Given the description of an element on the screen output the (x, y) to click on. 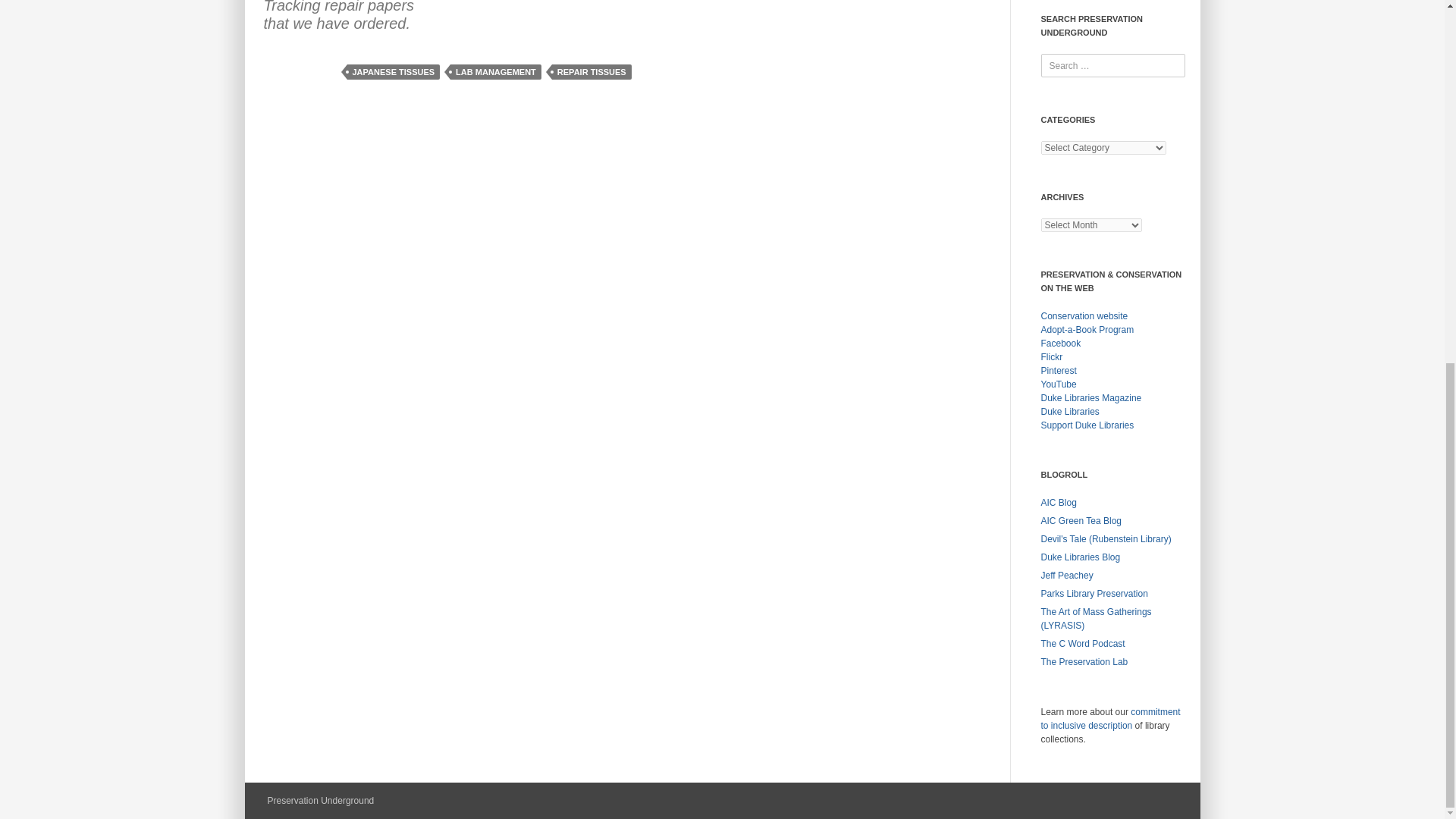
Iowa State University Preservation Department (1094, 593)
Pinterest (1058, 370)
Jeff Peachey is a master bookbinder and toolmaker (1067, 575)
Duke Libraries (1070, 411)
Duke Libraries Blog (1080, 557)
YouTube (1058, 384)
Facebook (1060, 343)
The blog of the American Institute for Conservation (1058, 502)
Support Duke Libraries (1087, 425)
REPAIR TISSUES (591, 71)
AIC Blog (1058, 502)
The blog of the Duke University Rubenstein Library (1105, 538)
